Given the description of an element on the screen output the (x, y) to click on. 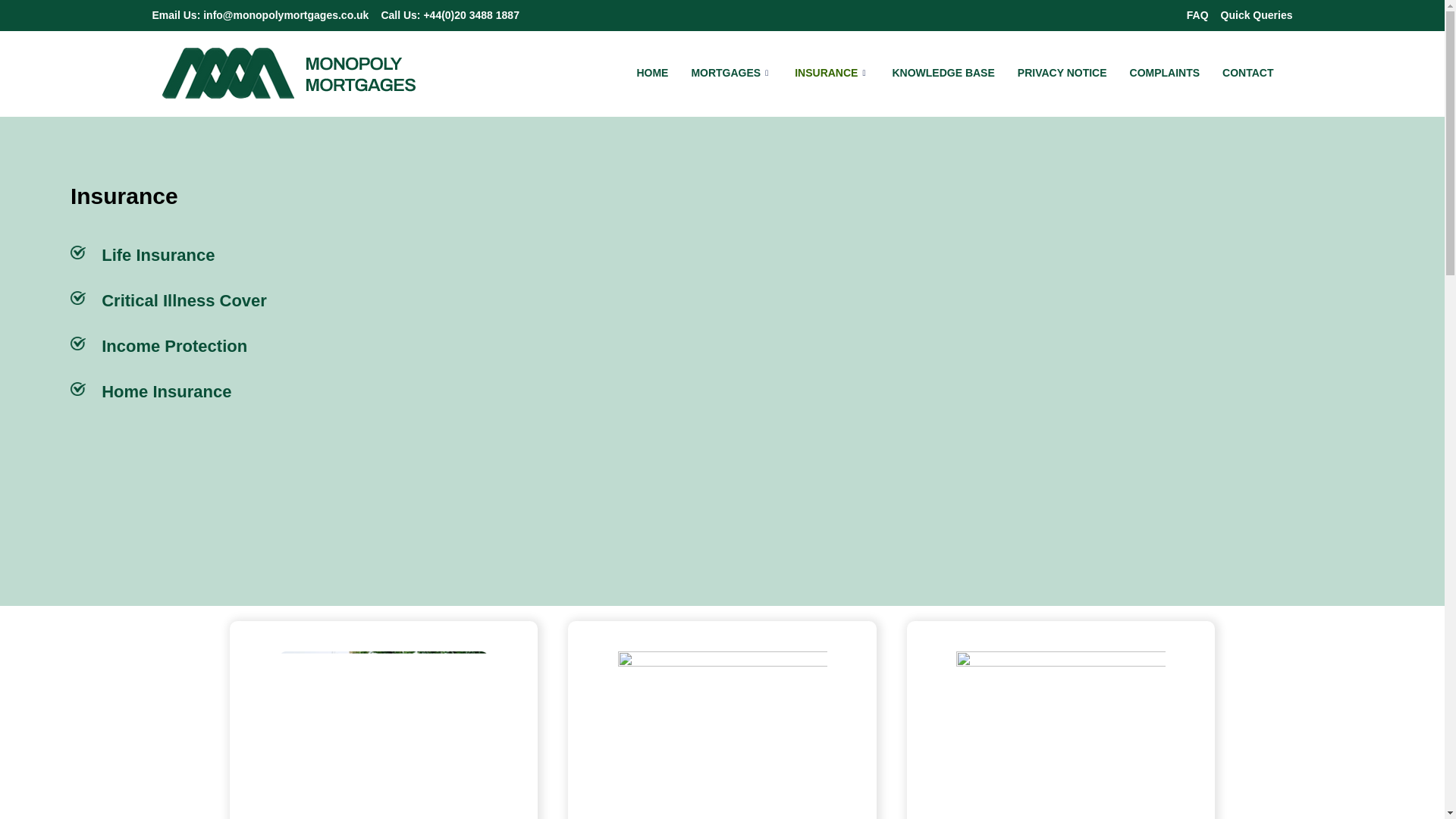
COMPLAINTS (1164, 72)
KNOWLEDGE BASE (943, 72)
MORTGAGES (731, 72)
CONTACT (1247, 72)
FAQ (1197, 15)
PRIVACY NOTICE (1062, 72)
INSURANCE (831, 72)
Quick Queries (1256, 15)
HOME (651, 72)
